Given the description of an element on the screen output the (x, y) to click on. 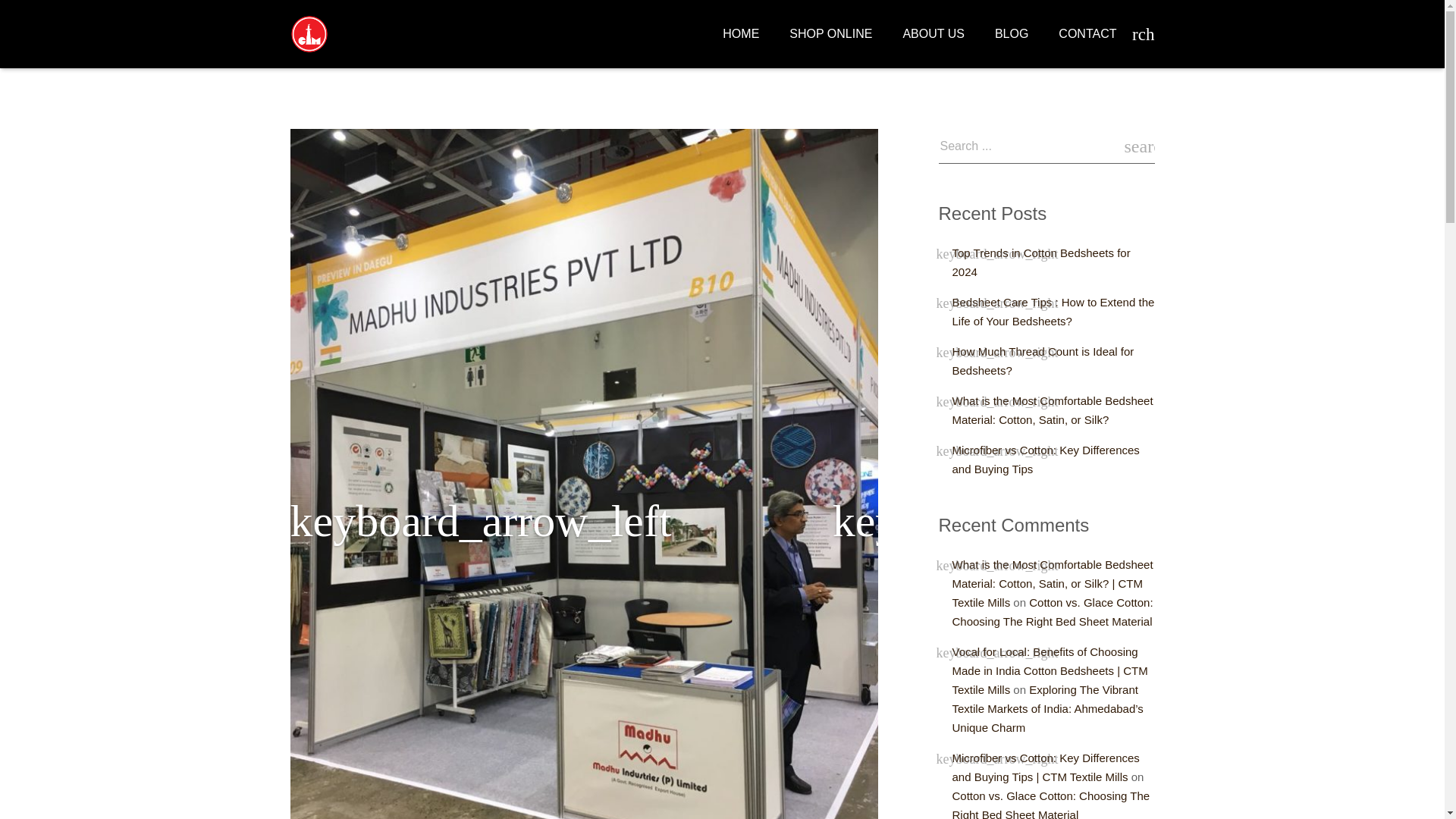
ABOUT US (932, 34)
Top Trends in Cotton Bedsheets for 2024 (1041, 262)
SHOP ONLINE (830, 34)
HOME (740, 34)
BLOG (1011, 34)
How Much Thread Count is Ideal for Bedsheets? (1043, 360)
Microfiber vs Cotton: Key Differences and Buying Tips (1046, 459)
CONTACT (1087, 34)
